Given the description of an element on the screen output the (x, y) to click on. 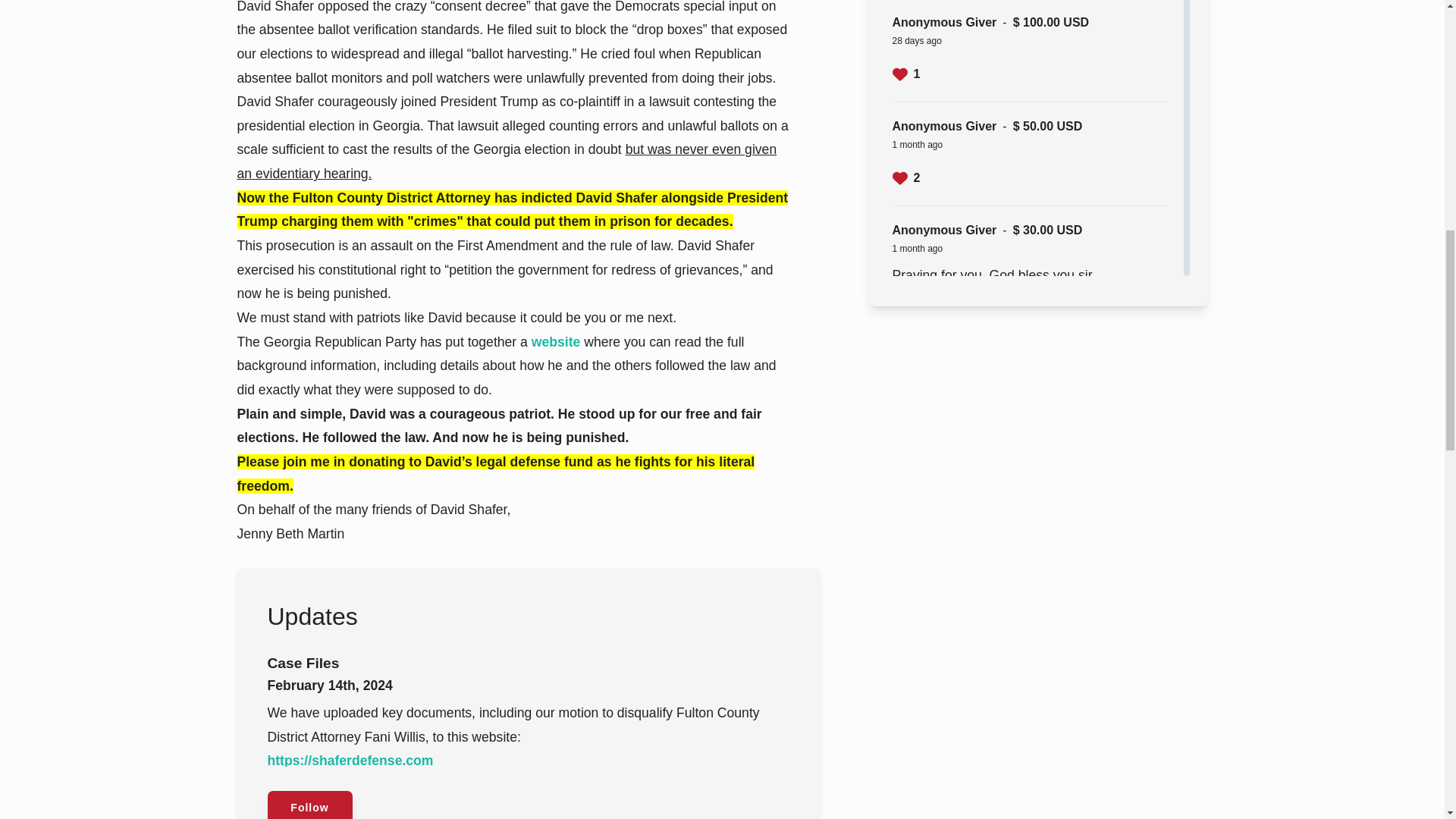
2 (905, 306)
2 (905, 177)
Follow (309, 805)
1 (905, 74)
website (555, 341)
